Given the description of an element on the screen output the (x, y) to click on. 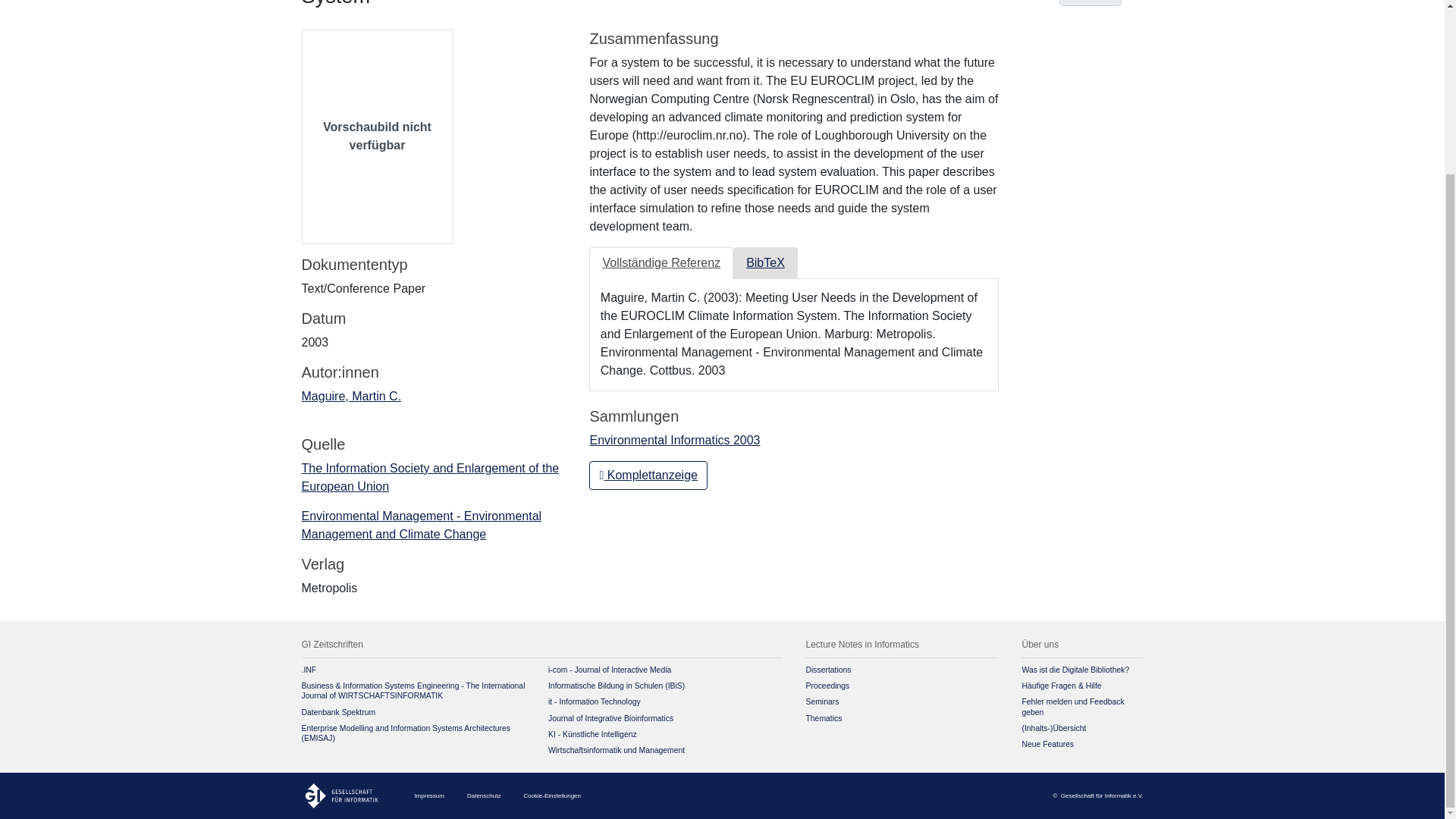
Was ist die Digitale Bibliothek? (1075, 669)
Journal of Integrative Bioinformatics (610, 718)
i-com - Journal of Interactive Media (609, 669)
Dissertations (827, 669)
Fehler melden und Feedback geben (1073, 706)
.INF (309, 669)
Seminars (821, 701)
Environmental Informatics 2003 (674, 440)
